Given the description of an element on the screen output the (x, y) to click on. 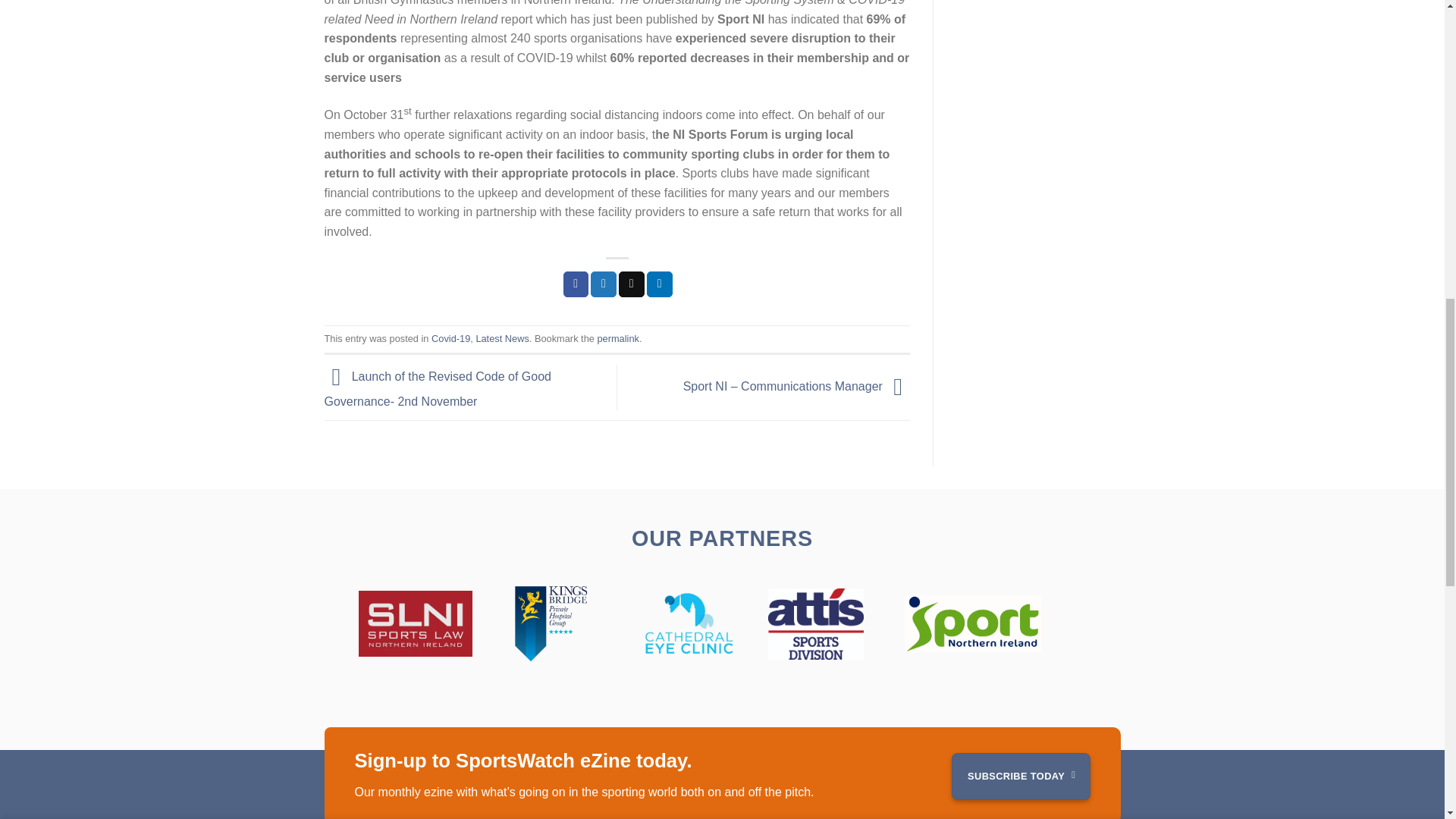
Share on Twitter (603, 284)
Share on LinkedIn (659, 284)
Share on Facebook (576, 284)
Email to a Friend (631, 284)
